Given the description of an element on the screen output the (x, y) to click on. 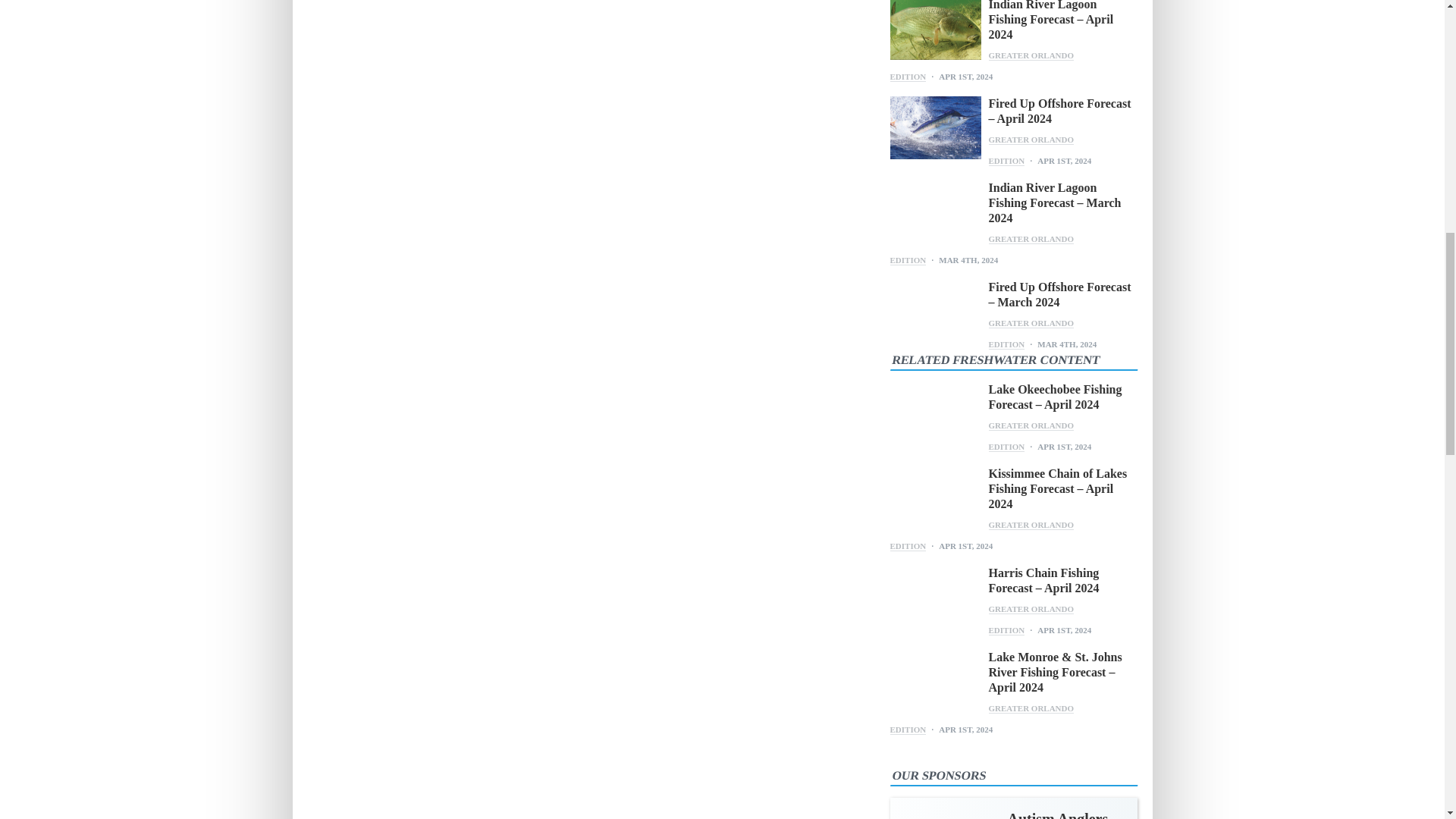
View all posts by Greater Orlando Edition (981, 65)
